Given the description of an element on the screen output the (x, y) to click on. 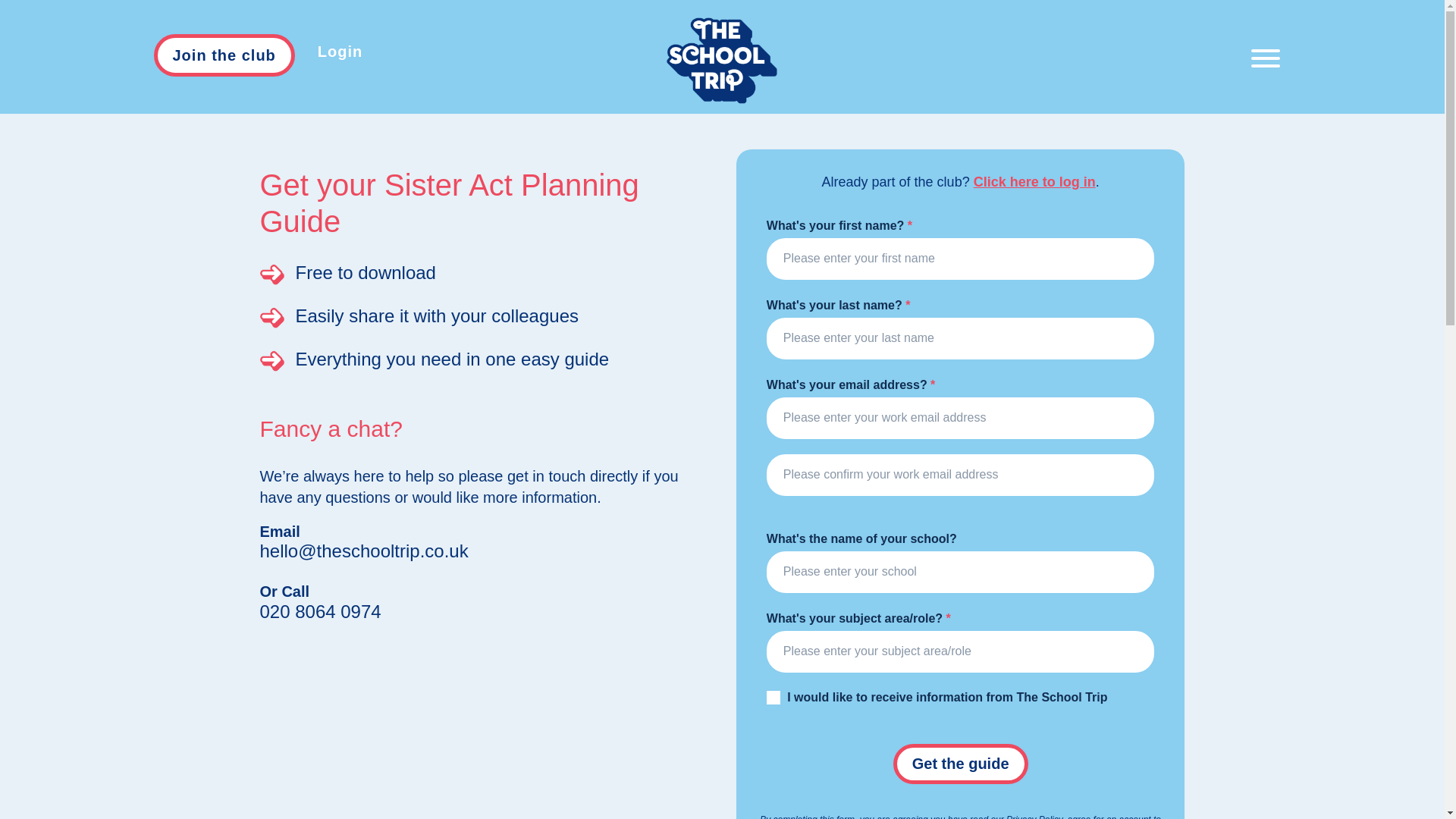
Privacy Policy (1034, 816)
Login (339, 50)
The School Trip Logo 500x400 Dark Blue (721, 60)
I would like to receive information from The School Trip (773, 697)
Click here to log in (1035, 181)
Get the guide (960, 763)
Join the club (223, 54)
